Given the description of an element on the screen output the (x, y) to click on. 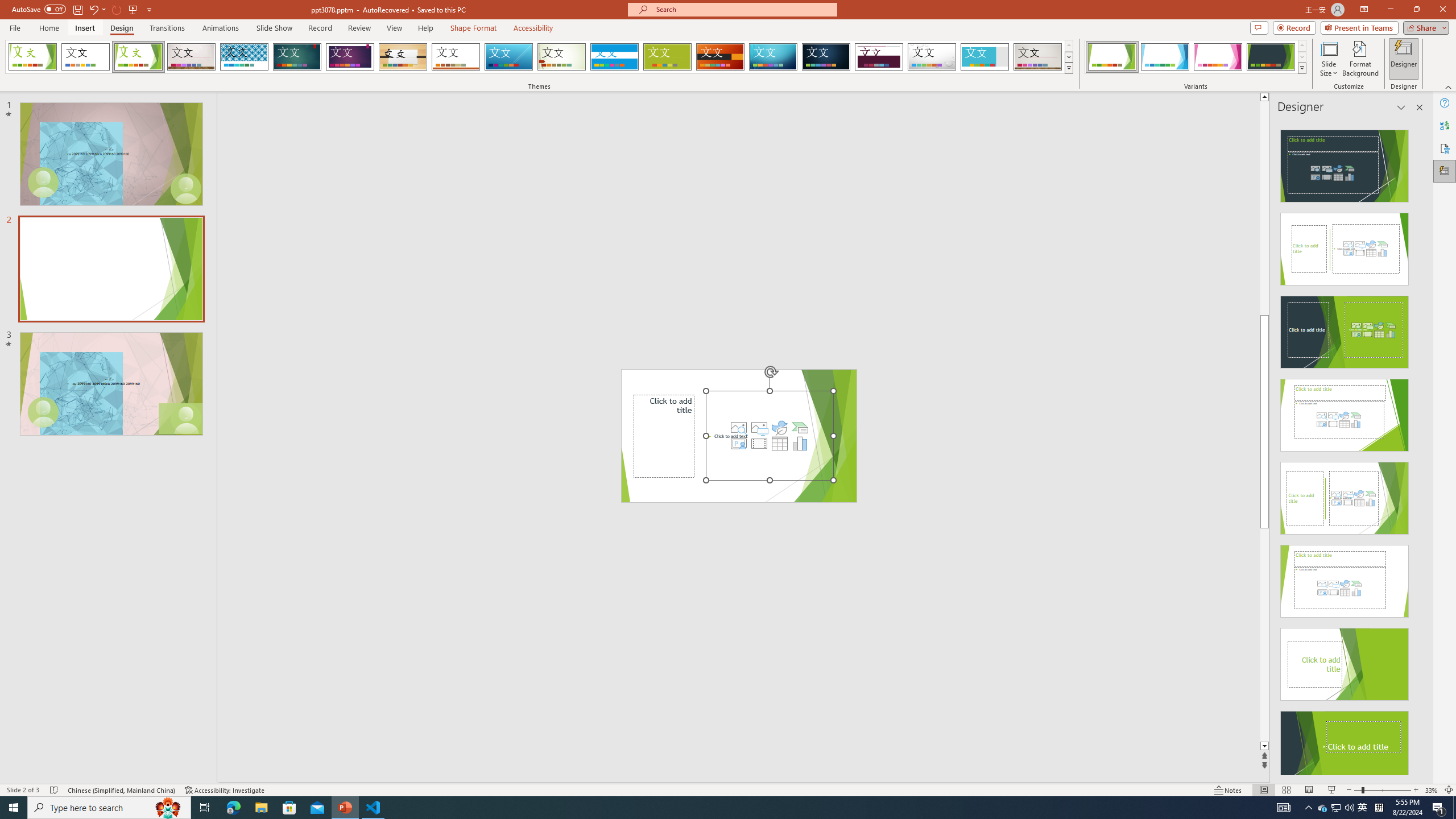
AutomationID: ThemeVariantsGallery (1195, 56)
Gallery (1037, 56)
Circuit (772, 56)
Berlin (720, 56)
Ion (296, 56)
